Given the description of an element on the screen output the (x, y) to click on. 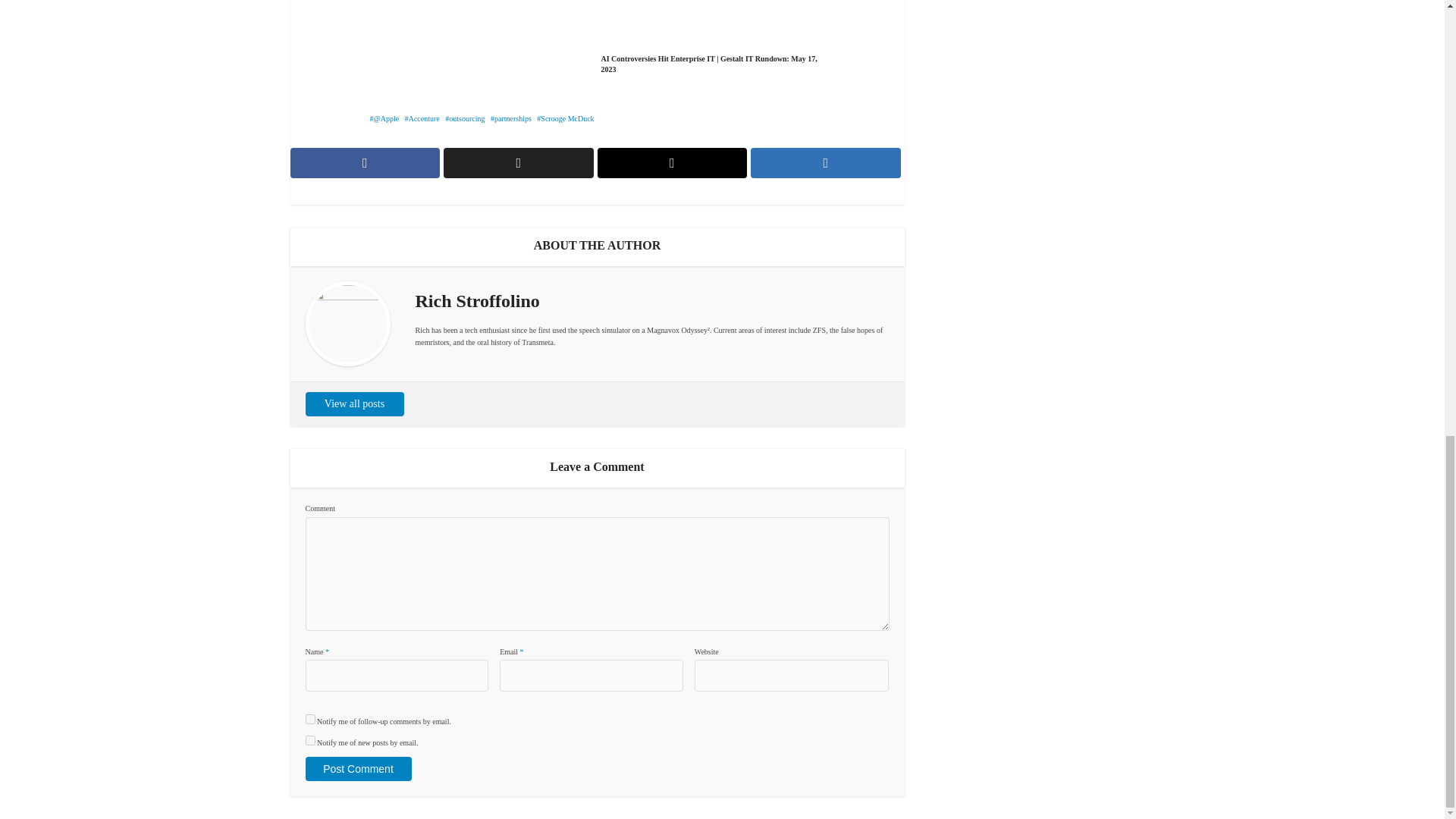
Post Comment (357, 768)
subscribe (309, 718)
subscribe (309, 740)
